Given the description of an element on the screen output the (x, y) to click on. 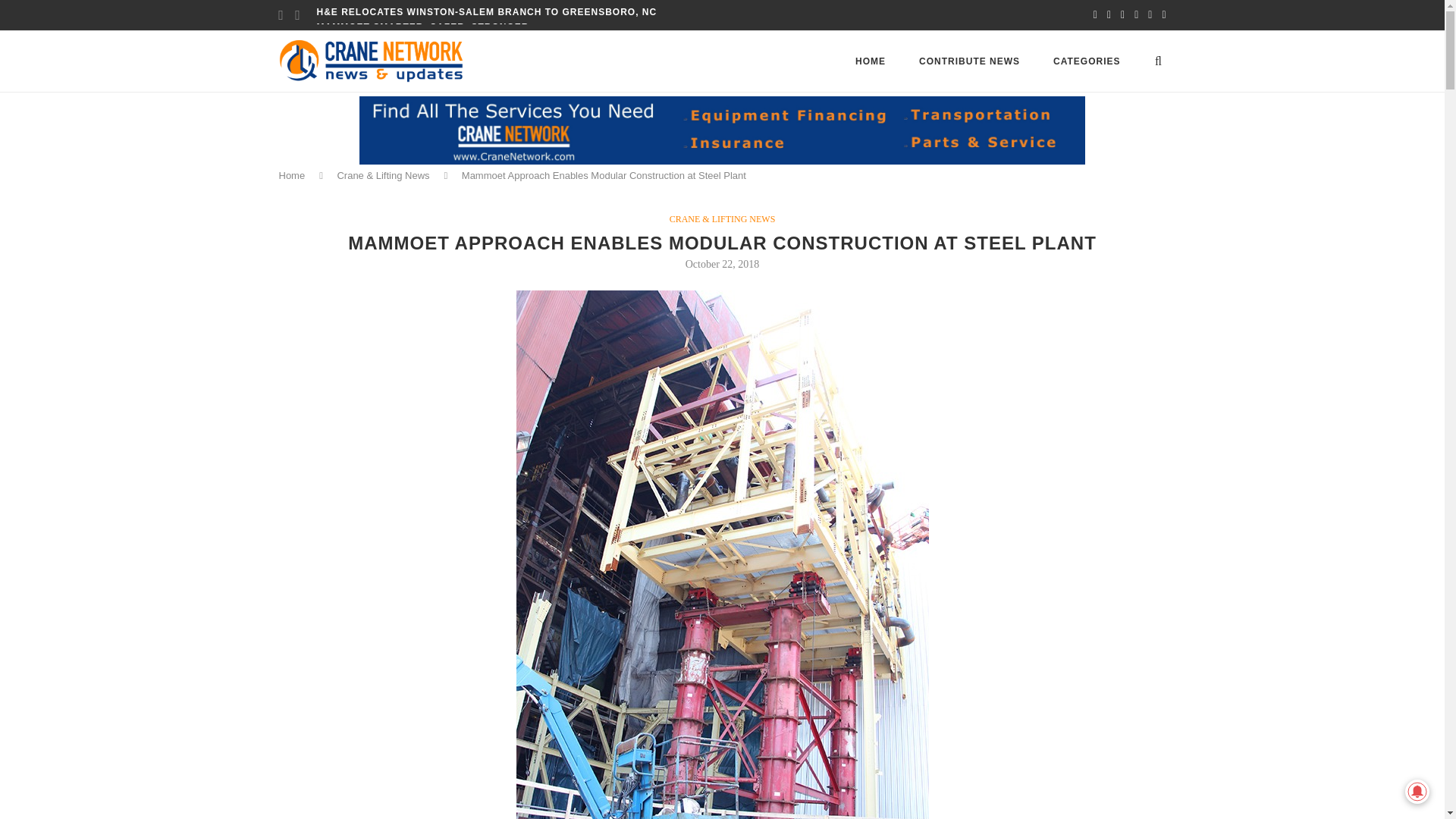
MAMMOET SMARTER, SAFER, STRONGER (423, 27)
CONTRIBUTE NEWS (969, 61)
